Given the description of an element on the screen output the (x, y) to click on. 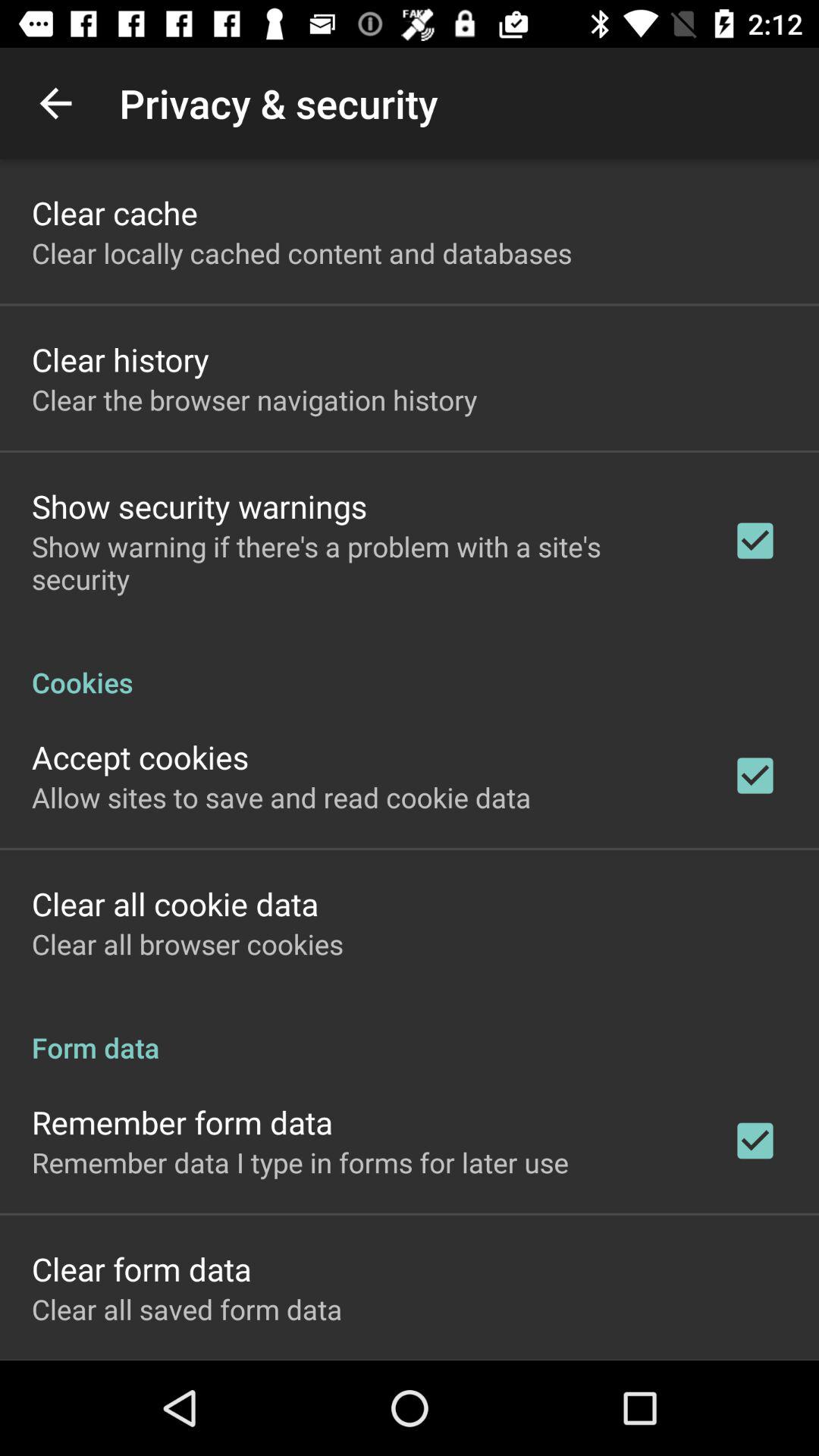
jump to the clear locally cached item (301, 252)
